Given the description of an element on the screen output the (x, y) to click on. 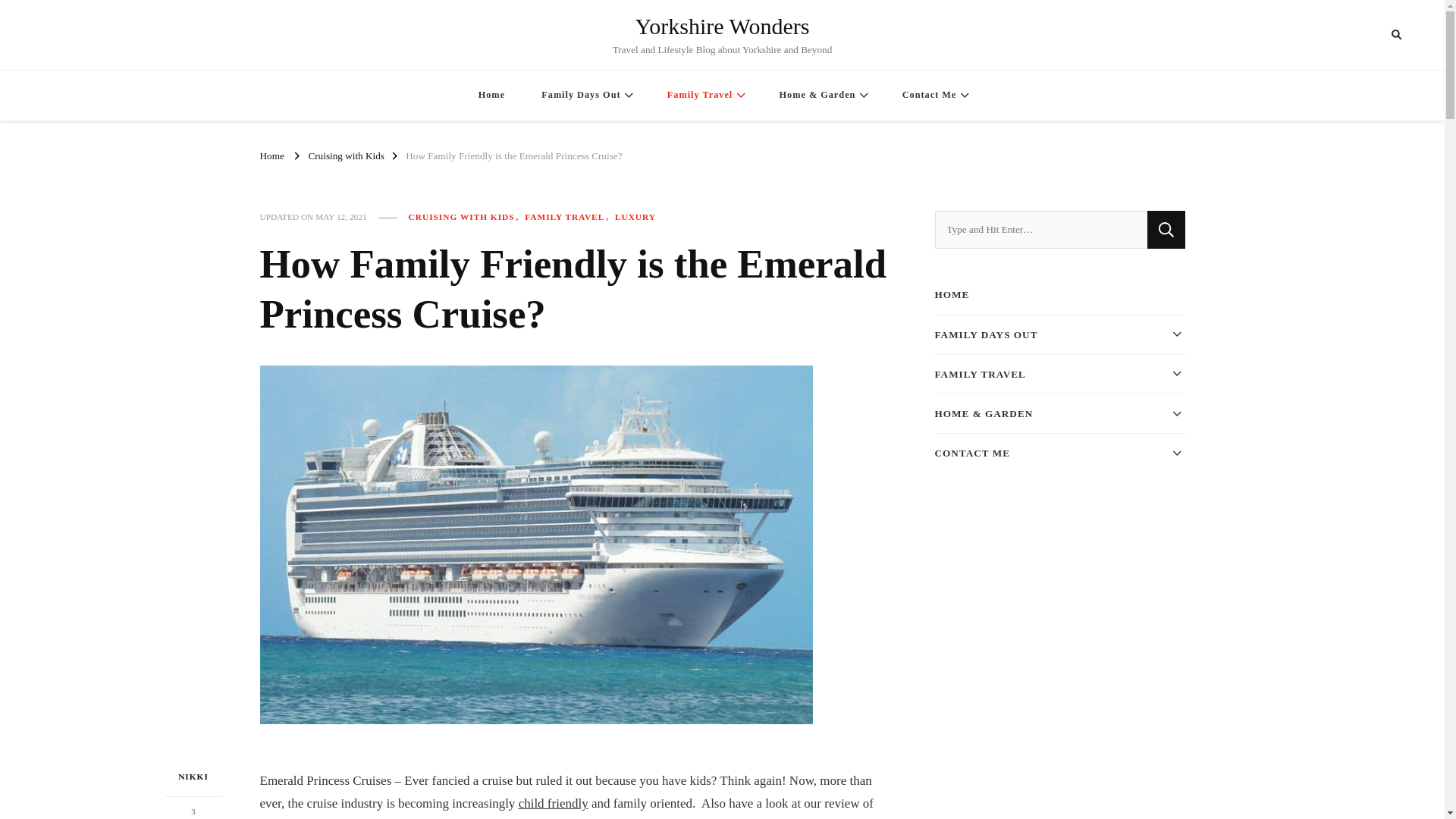
Search (1166, 229)
Yorkshire Wonders (721, 25)
Family Days Out (585, 94)
Home (491, 94)
Search (1166, 229)
Search (1368, 35)
Family Travel (704, 94)
